Given the description of an element on the screen output the (x, y) to click on. 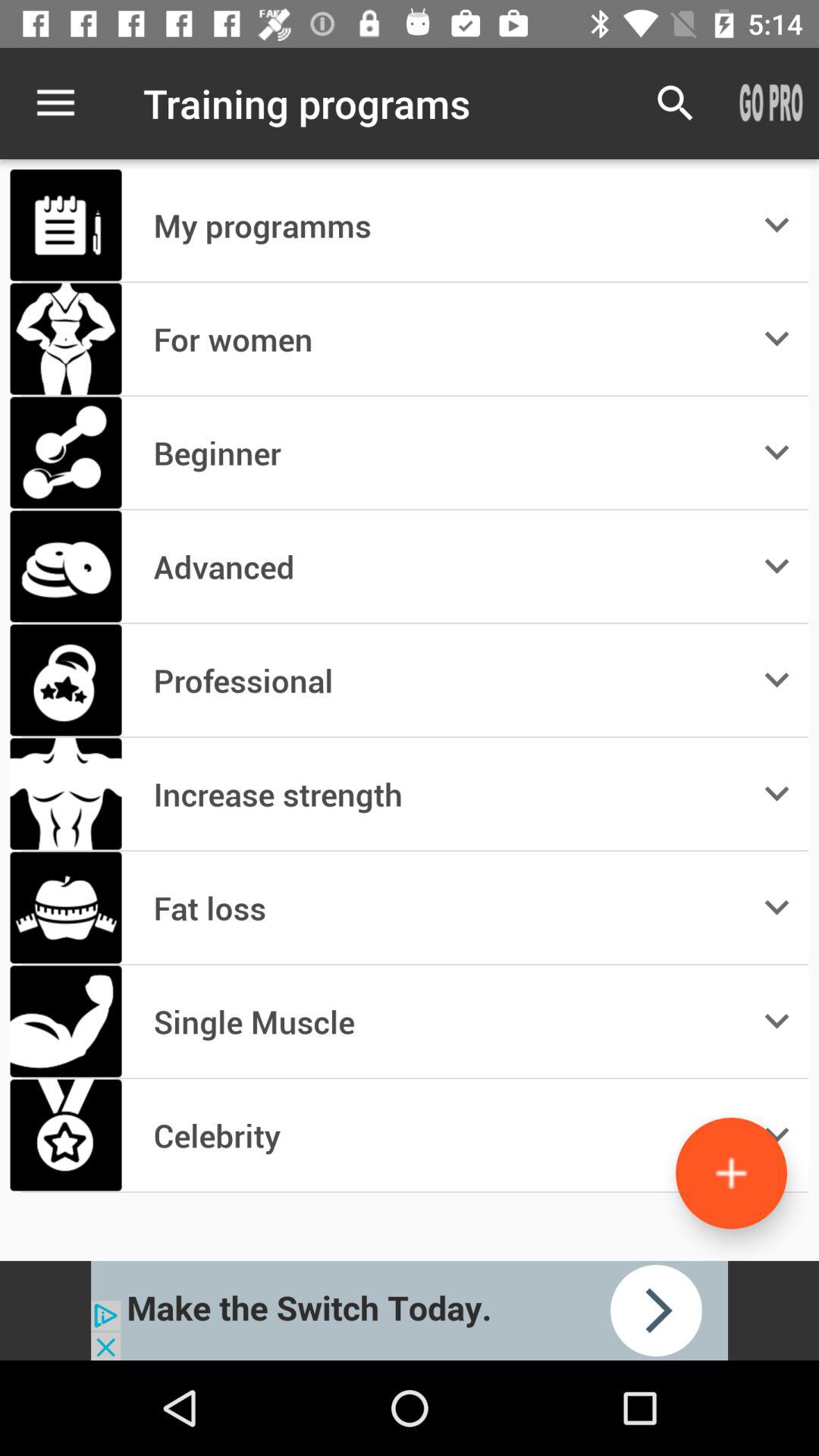
advertisement section (409, 1310)
